Given the description of an element on the screen output the (x, y) to click on. 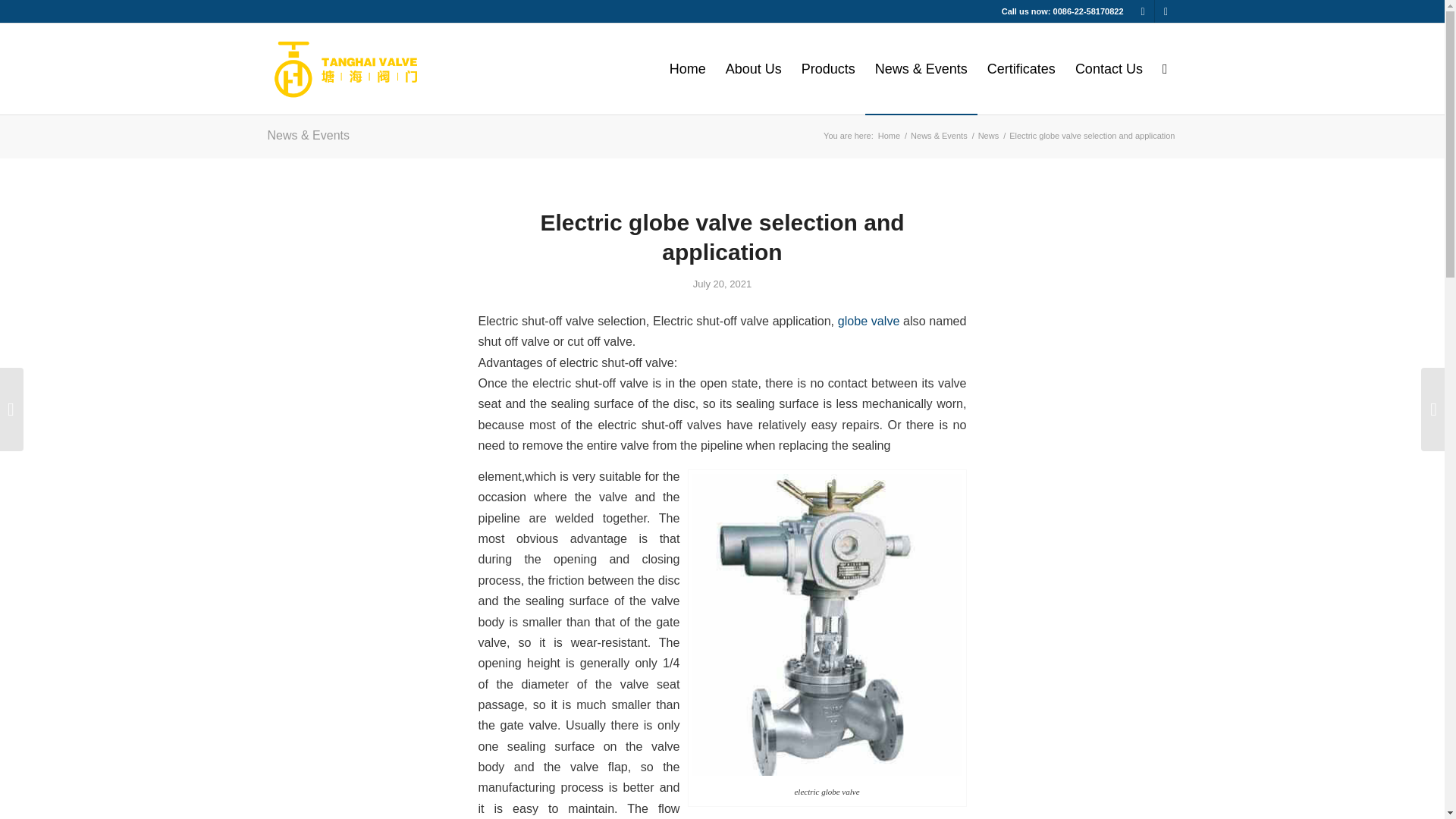
tanghaivalve (889, 135)
LinkedIn (1165, 11)
Youtube (1142, 11)
logo2-Tanghaivalve logo- golden-H (360, 68)
